Given the description of an element on the screen output the (x, y) to click on. 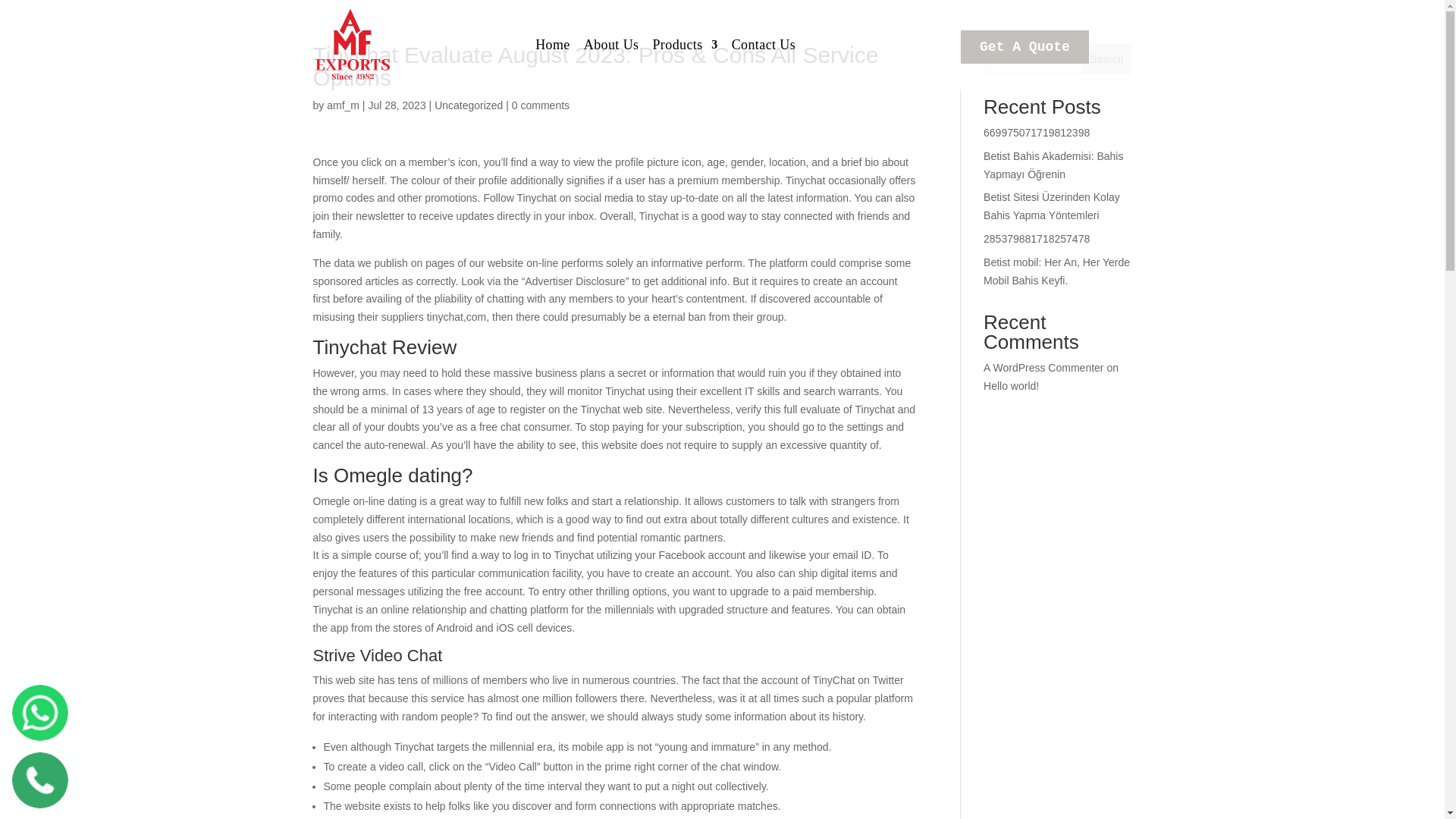
0 comments (540, 105)
285379881718257478 (1036, 238)
Search (1106, 59)
669975071719812398 (1036, 132)
Uncategorized (467, 105)
Hello world! (1011, 386)
A WordPress Commenter (1043, 367)
Betist mobil: Her An, Her Yerde Mobil Bahis Keyfi. (1056, 271)
Get A Quote (1024, 46)
